Given the description of an element on the screen output the (x, y) to click on. 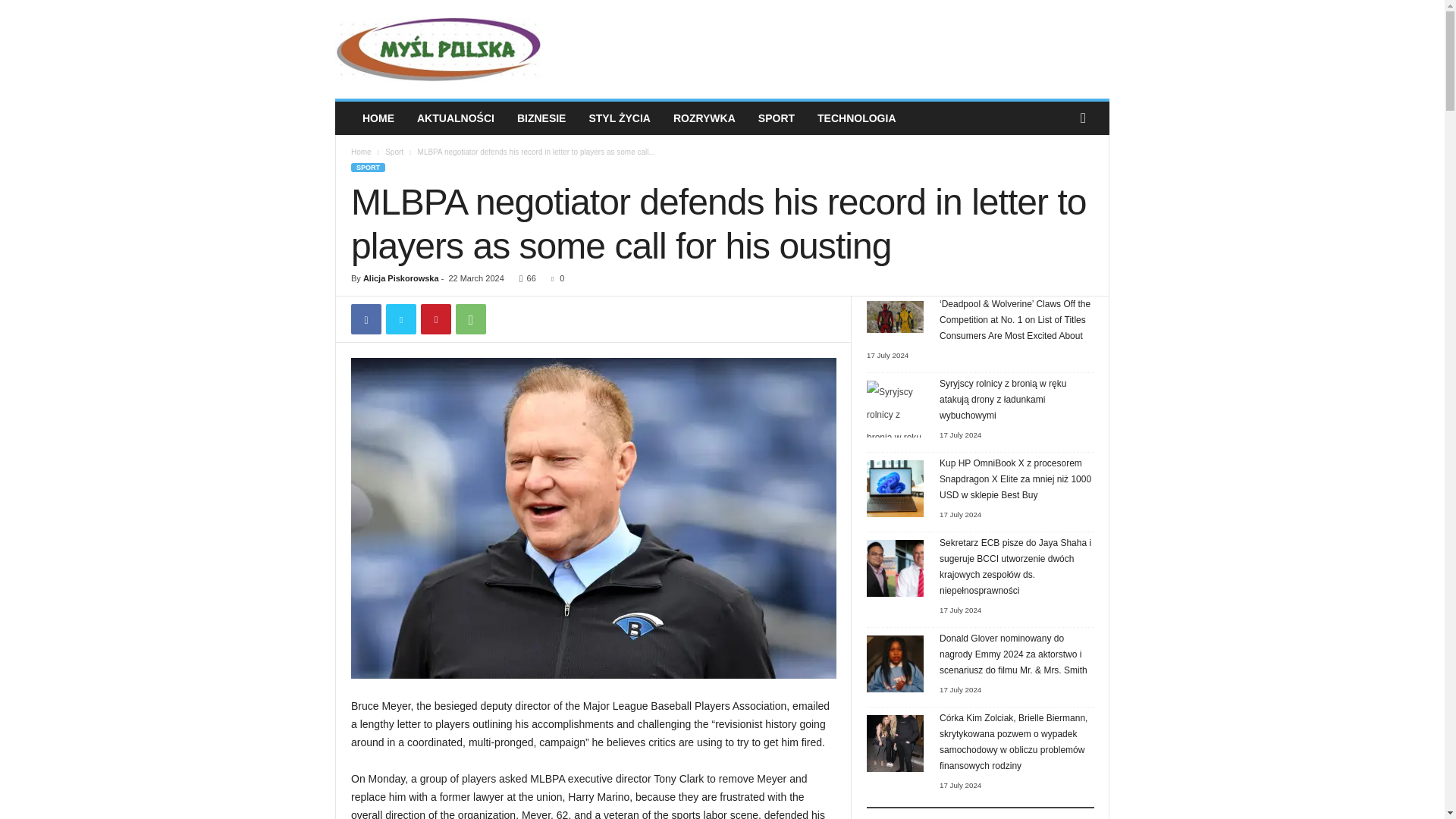
Sport (394, 152)
HOME (378, 118)
WhatsApp (470, 318)
ROZRYWKA (704, 118)
View all posts in Sport (394, 152)
0 (554, 277)
Facebook (365, 318)
Home (360, 152)
TECHNOLOGIA (856, 118)
SPORT (367, 166)
BIZNESIE (541, 118)
Alicja Piskorowska (400, 277)
Pinterest (435, 318)
Twitter (400, 318)
